Given the description of an element on the screen output the (x, y) to click on. 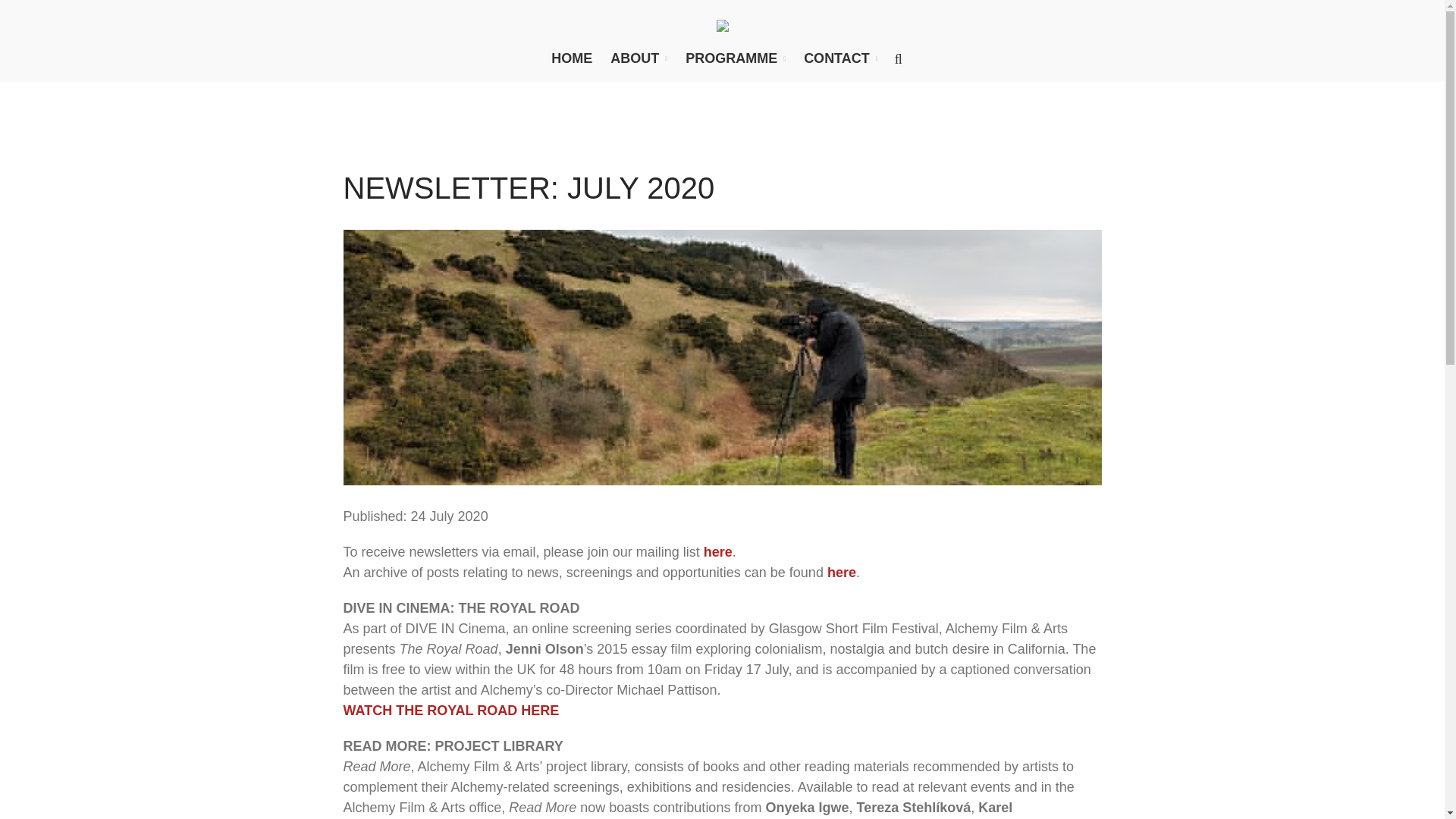
HOME (571, 58)
PROGRAMME (735, 58)
ABOUT (638, 58)
CONTACT (840, 58)
